Given the description of an element on the screen output the (x, y) to click on. 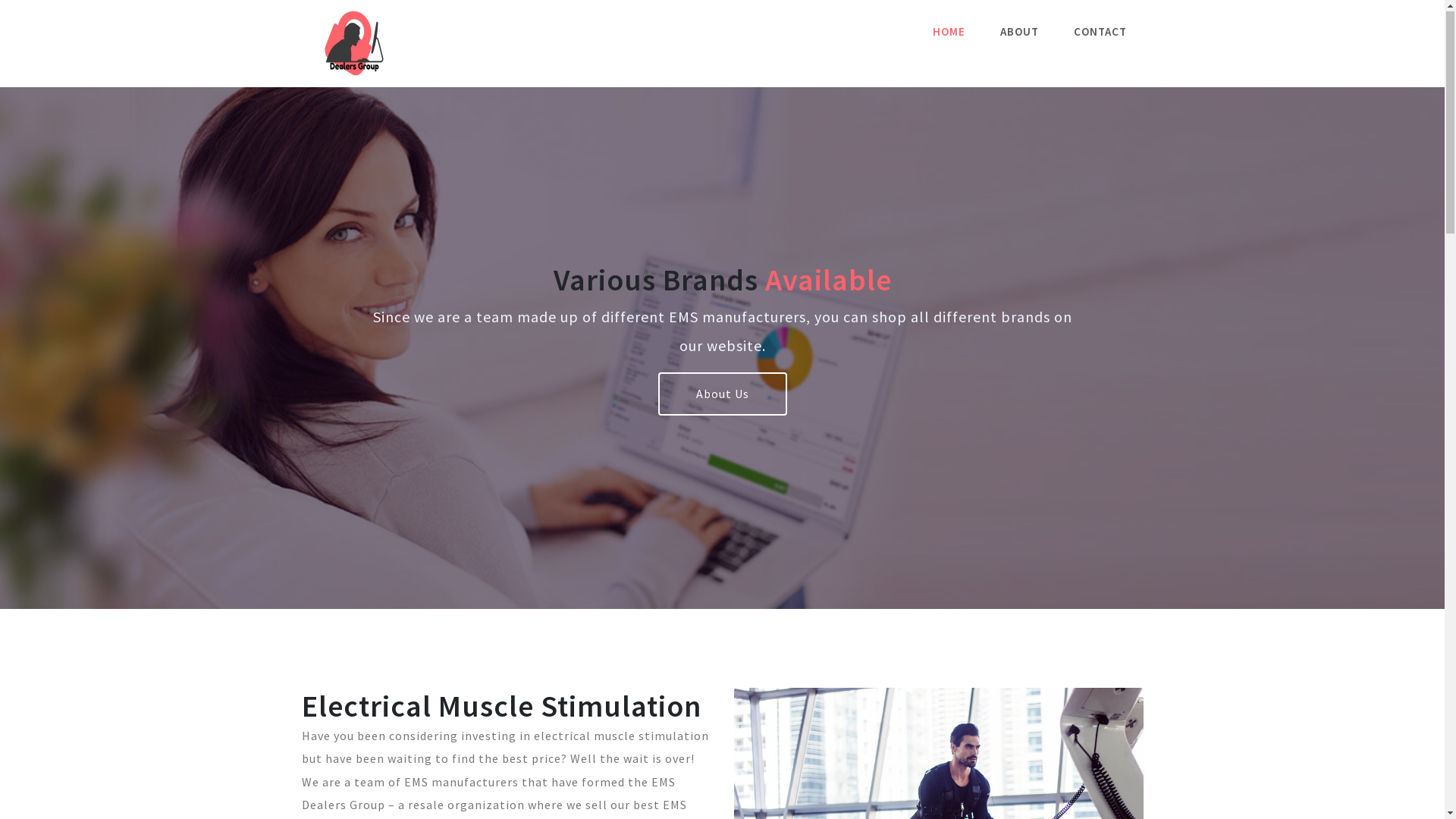
HOME Element type: text (948, 32)
About Us Element type: text (722, 394)
CONTACT Element type: text (1100, 32)
ABOUT Element type: text (1019, 32)
